Given the description of an element on the screen output the (x, y) to click on. 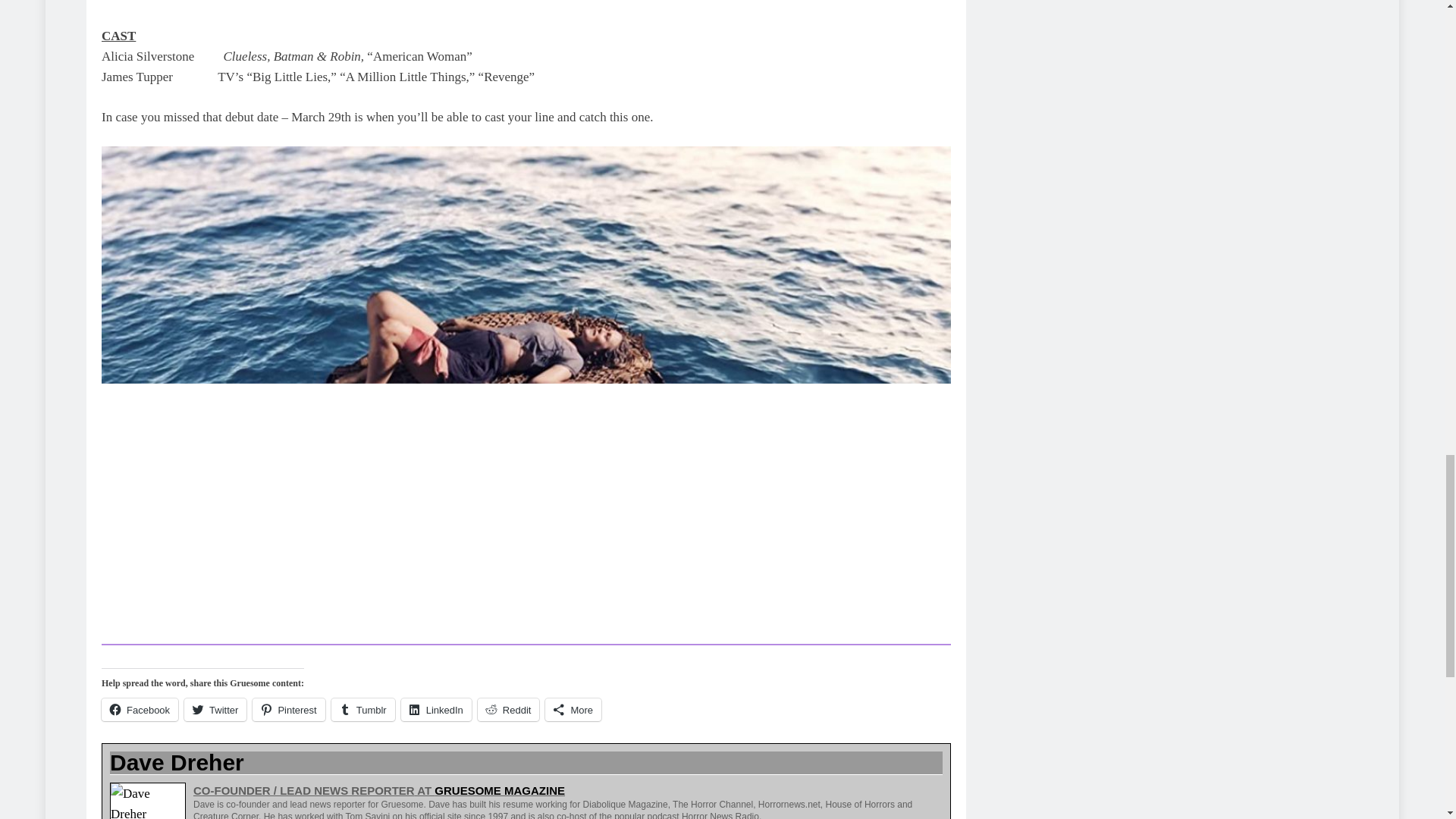
Click to share on Pinterest (287, 709)
Click to share on Facebook (139, 709)
Click to share on LinkedIn (436, 709)
Click to share on Twitter (215, 709)
Click to share on Reddit (508, 709)
Click to share on Tumblr (362, 709)
